Given the description of an element on the screen output the (x, y) to click on. 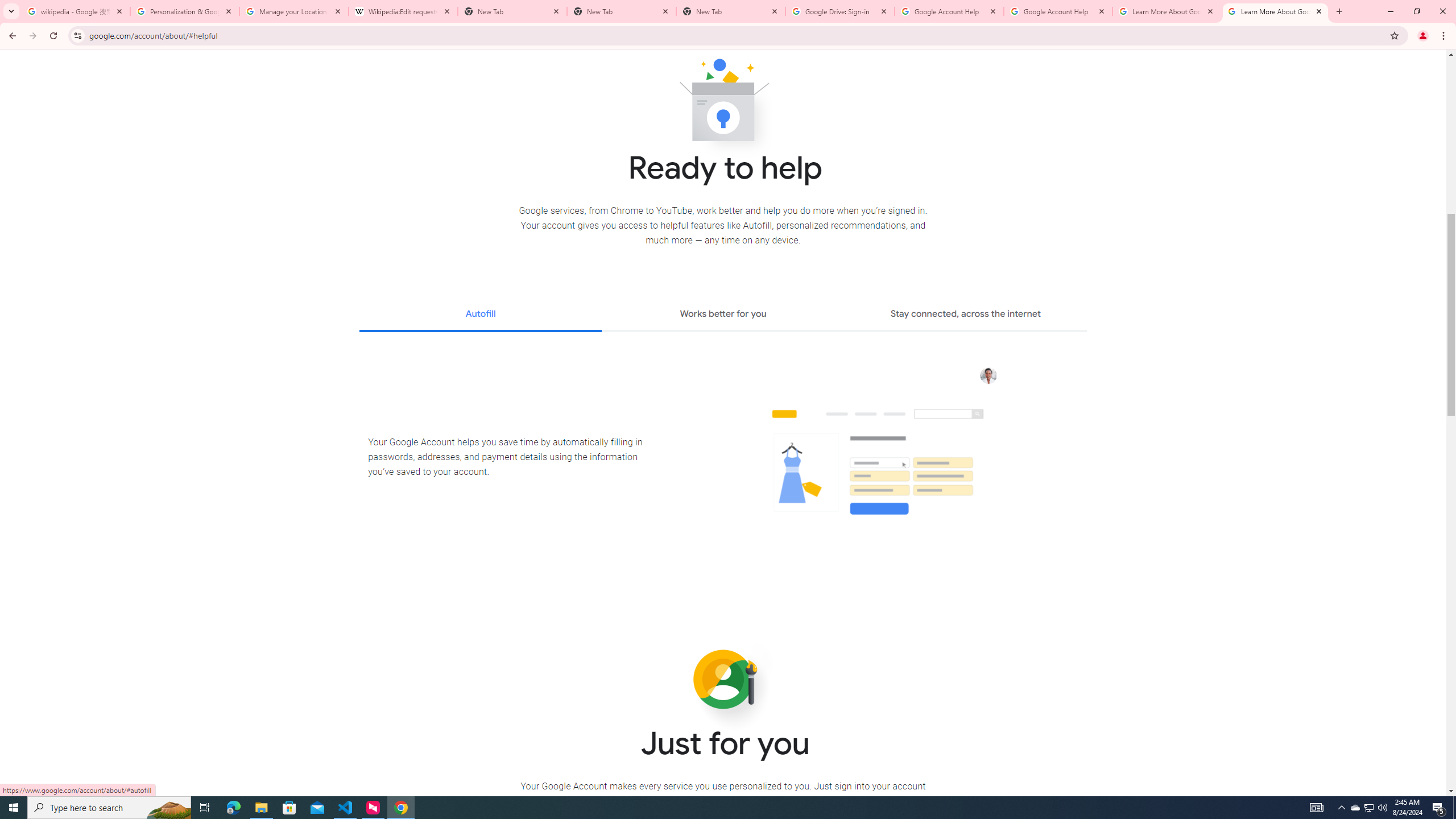
Works better for you (722, 315)
Google Account Help (949, 11)
Stay connected, across the internet (965, 315)
Manage your Location History - Google Search Help (293, 11)
Personalization & Google Search results - Google Search Help (184, 11)
